Given the description of an element on the screen output the (x, y) to click on. 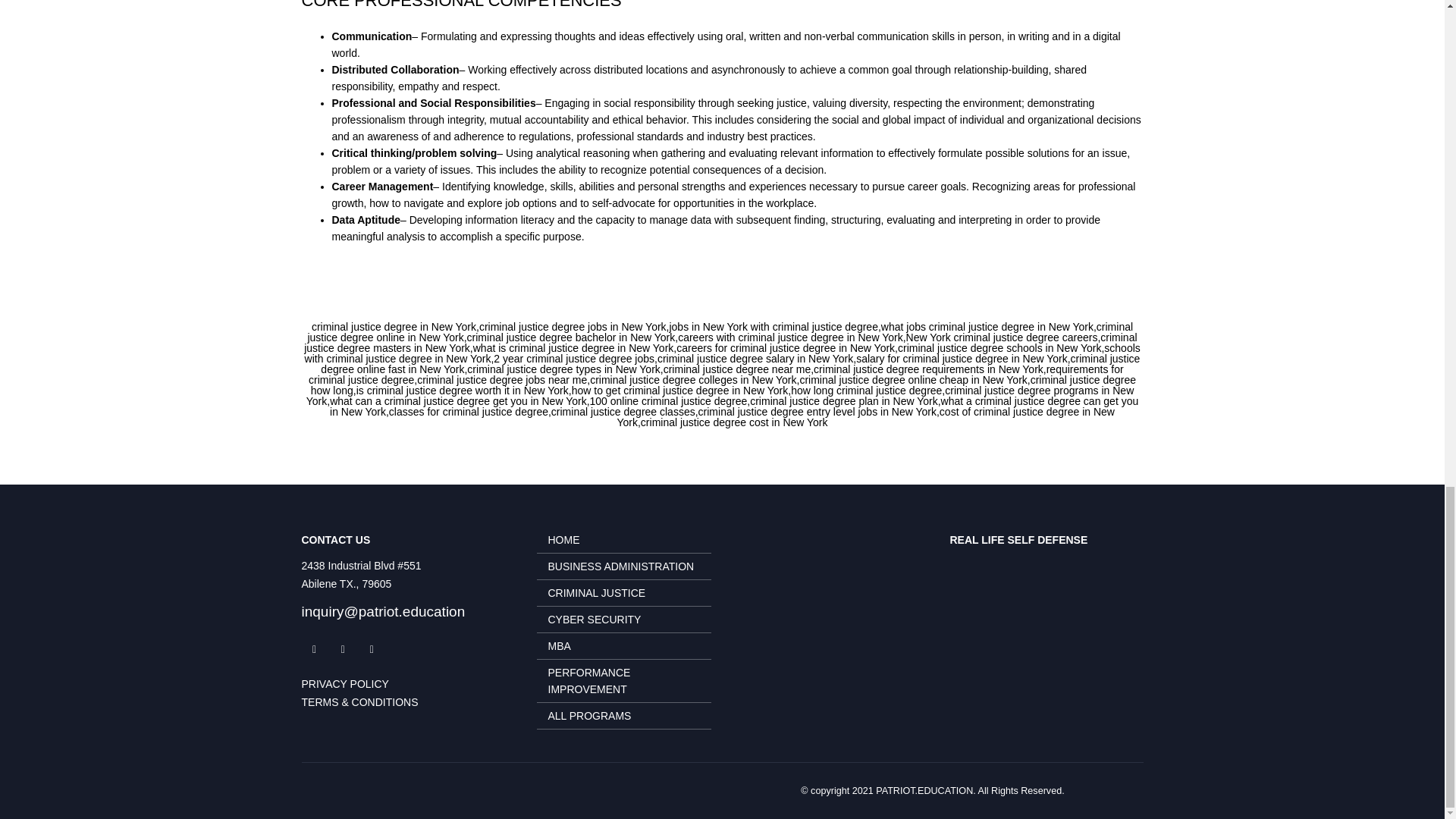
Linkedin (370, 649)
Twitter (342, 649)
Facebook (314, 649)
